Given the description of an element on the screen output the (x, y) to click on. 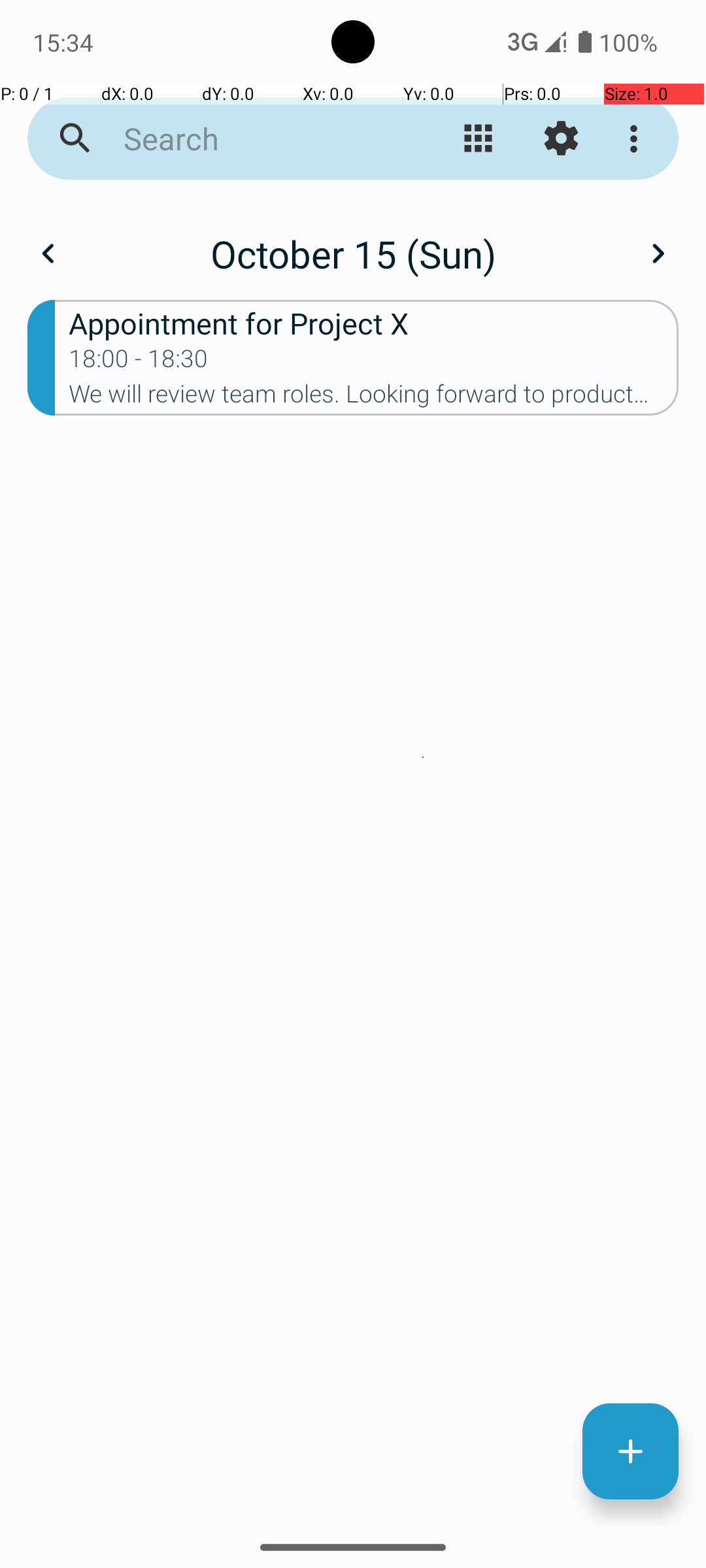
Appointment for Project X Element type: android.widget.TextView (373, 321)
18:00 - 18:30 Element type: android.widget.TextView (137, 362)
We will review team roles. Looking forward to productive discussions. Element type: android.widget.TextView (373, 397)
